Given the description of an element on the screen output the (x, y) to click on. 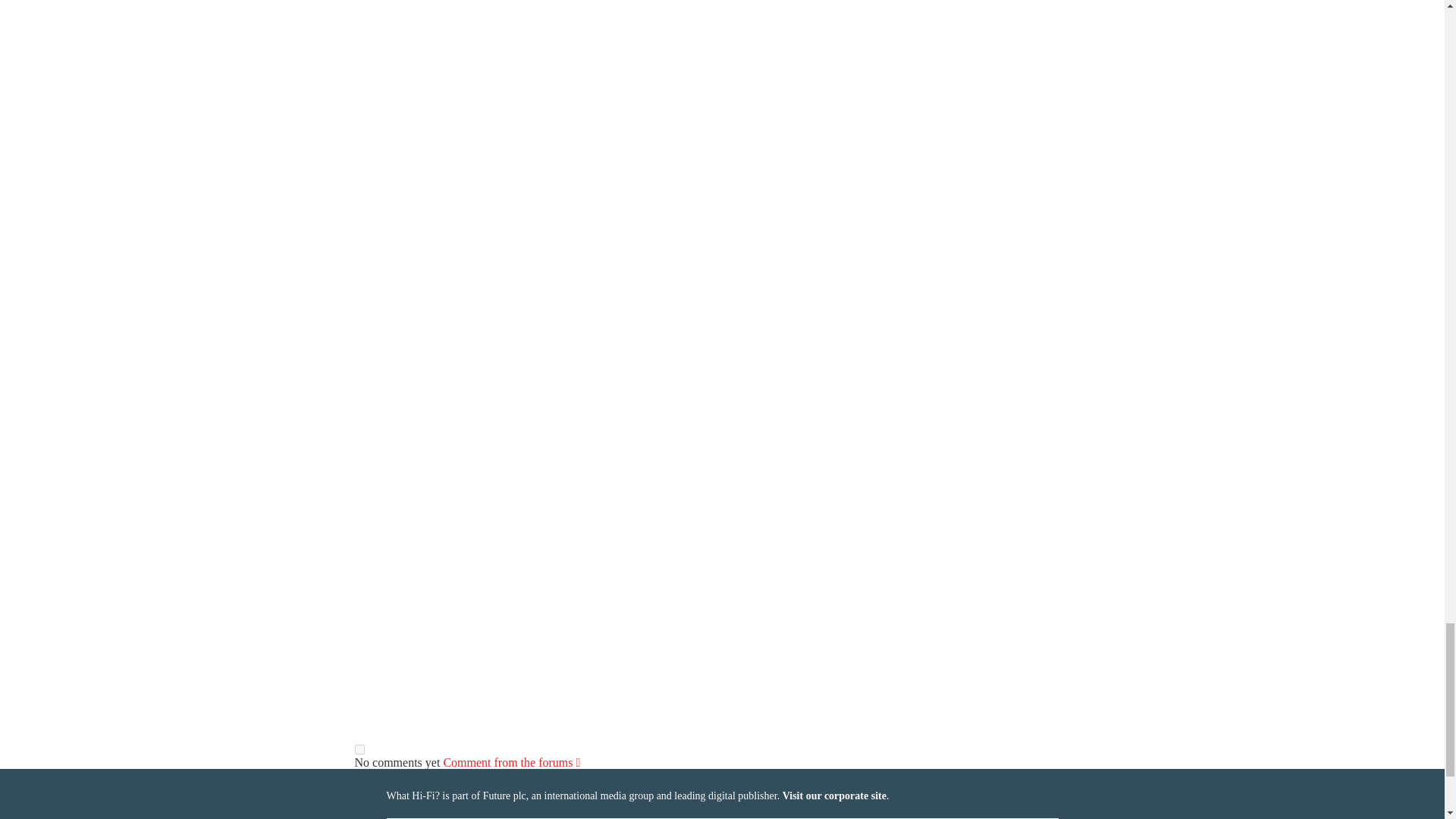
on (360, 749)
